Given the description of an element on the screen output the (x, y) to click on. 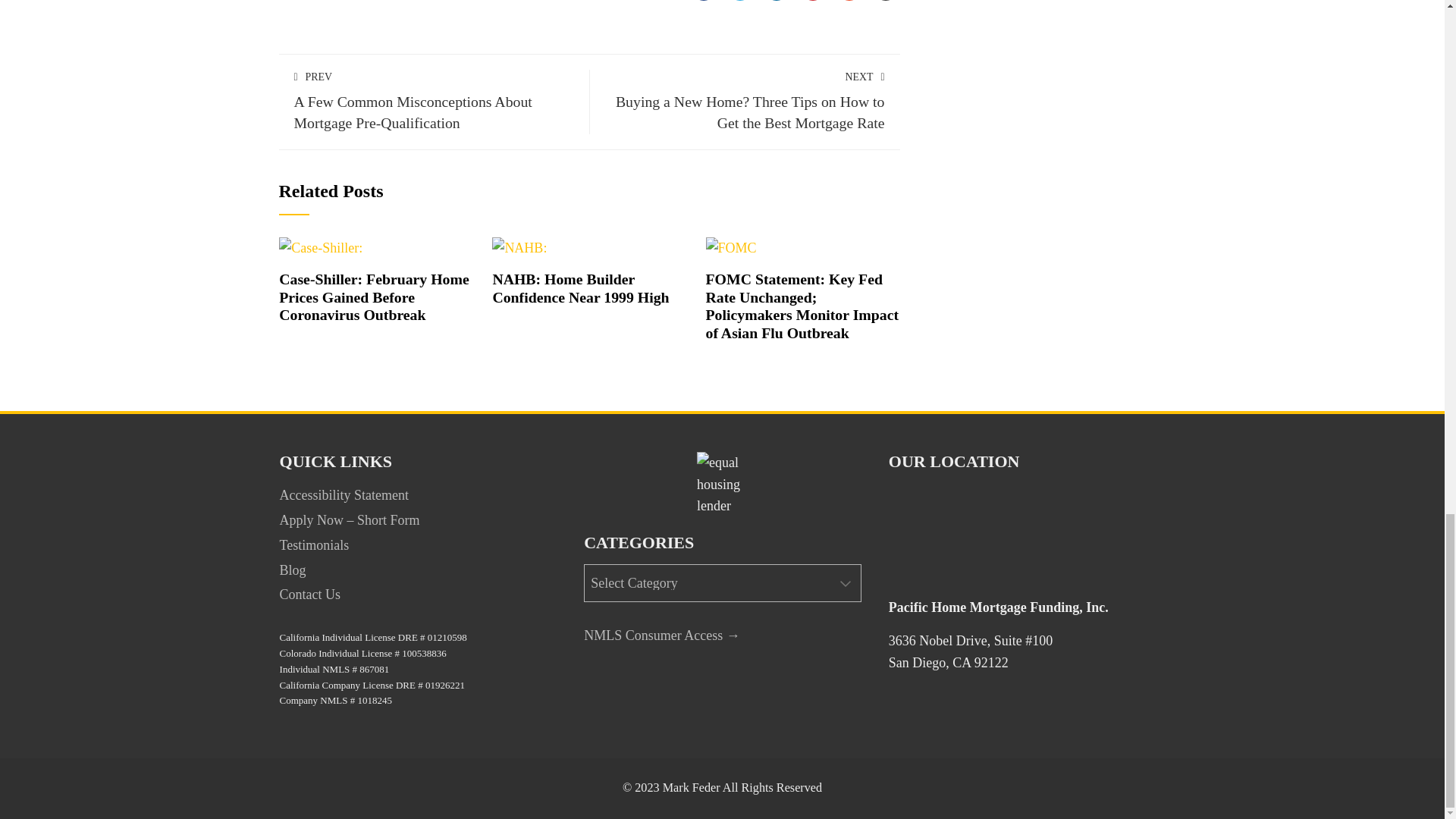
NAHB: Home Builder Confidence Near 1999 High (580, 288)
NAHB: Home Builder Confidence Near 1999 High (519, 246)
